Given the description of an element on the screen output the (x, y) to click on. 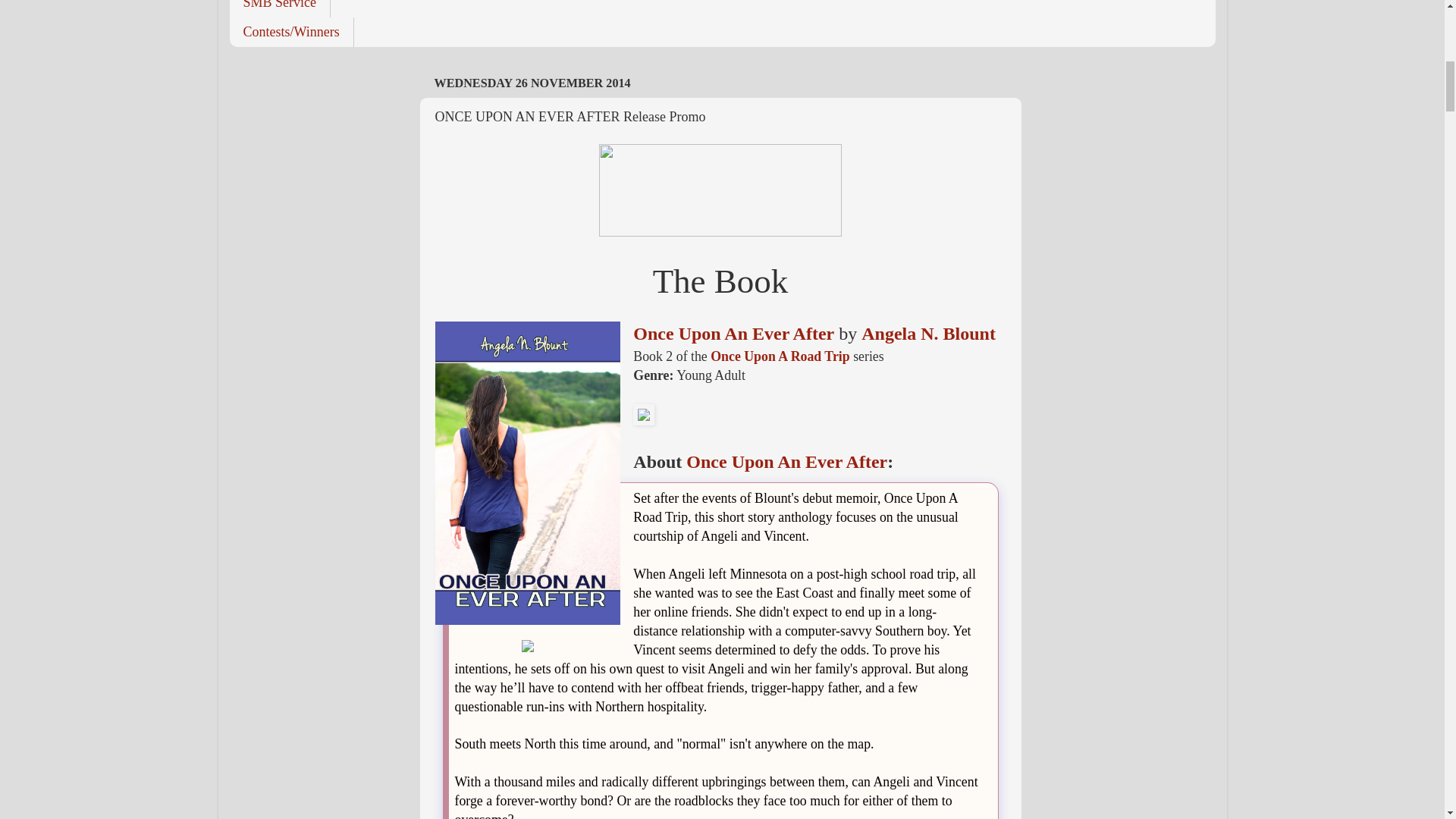
SMB Service (279, 8)
Angela N. Blount (928, 333)
Once Upon A Road Trip (779, 355)
Once Upon An Ever After (785, 461)
Once Upon An Ever After (733, 333)
